Given the description of an element on the screen output the (x, y) to click on. 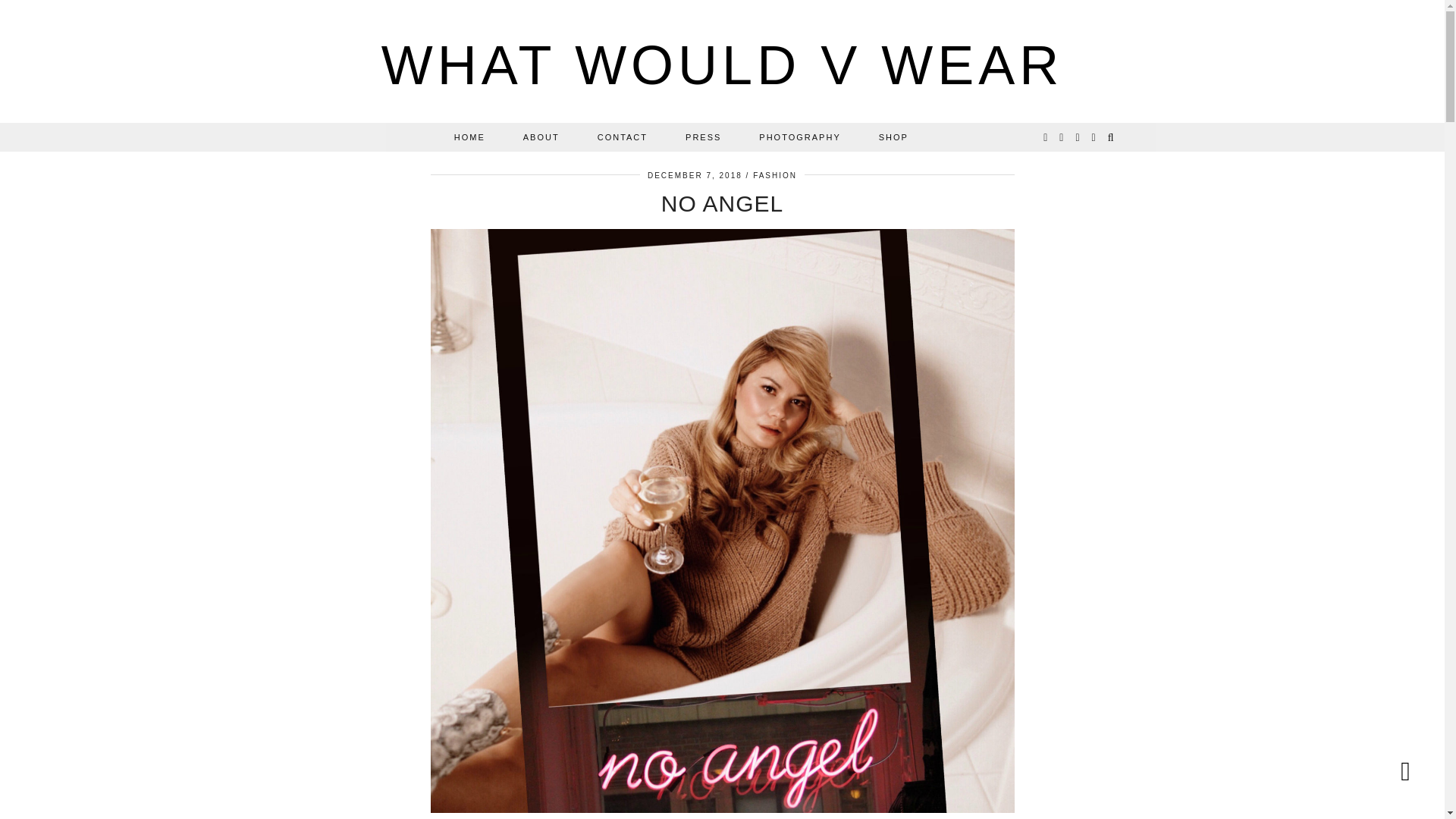
FASHION (774, 175)
PHOTOGRAPHY (799, 136)
CONTACT (622, 136)
HOME (469, 136)
WHAT WOULD V WEAR (721, 65)
PRESS (702, 136)
What Would V Wear (721, 65)
ABOUT (540, 136)
SHOP (893, 136)
